Given the description of an element on the screen output the (x, y) to click on. 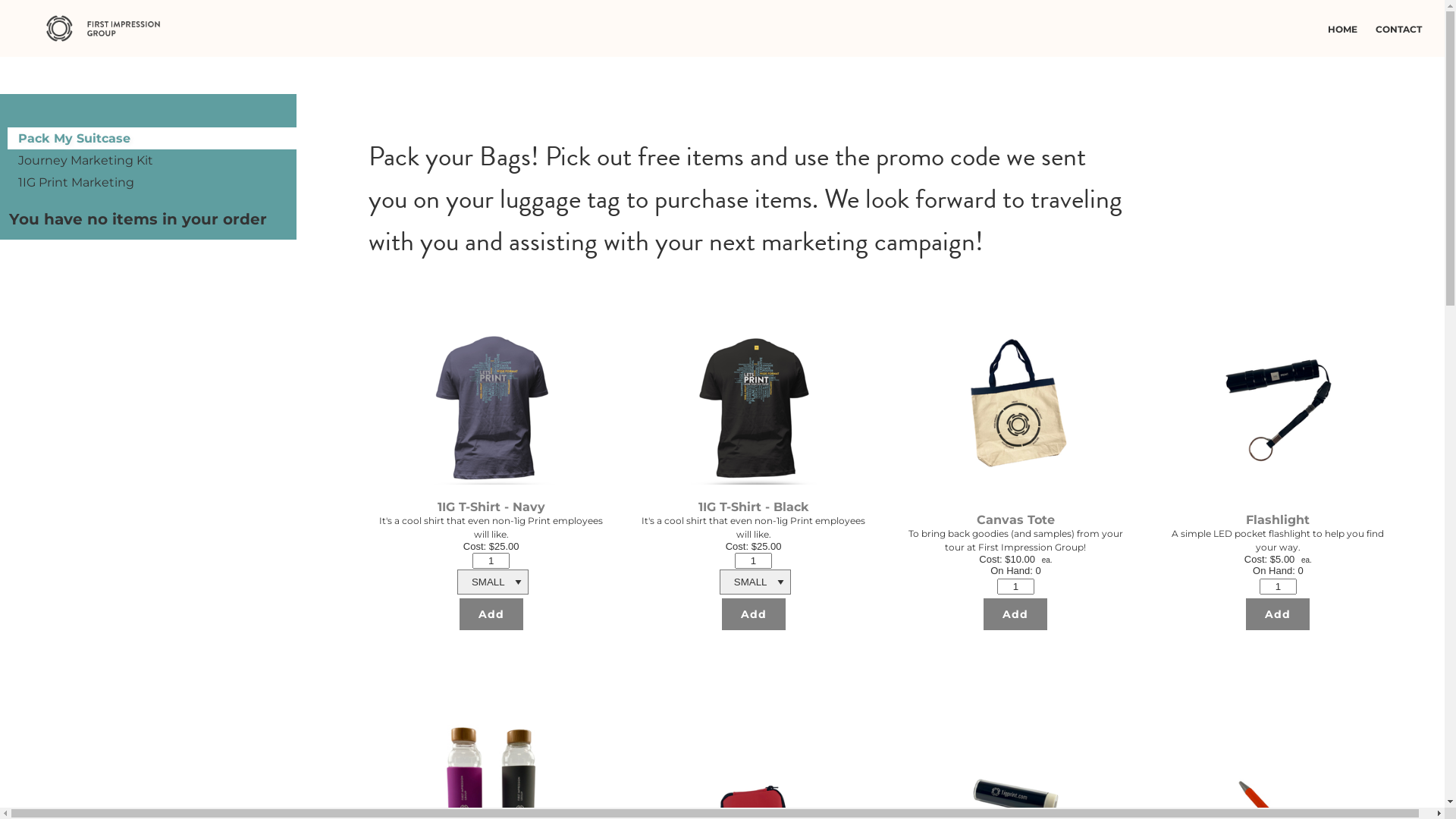
Journey Marketing Kit Element type: text (157, 160)
Add Element type: text (1015, 614)
HOME Element type: text (1346, 28)
Add Element type: text (753, 614)
Add Element type: text (1277, 614)
Add Element type: text (491, 614)
1IG Print Marketing Element type: text (157, 182)
Pack My Suitcase Element type: text (74, 138)
CONTACT Element type: text (1402, 28)
